Given the description of an element on the screen output the (x, y) to click on. 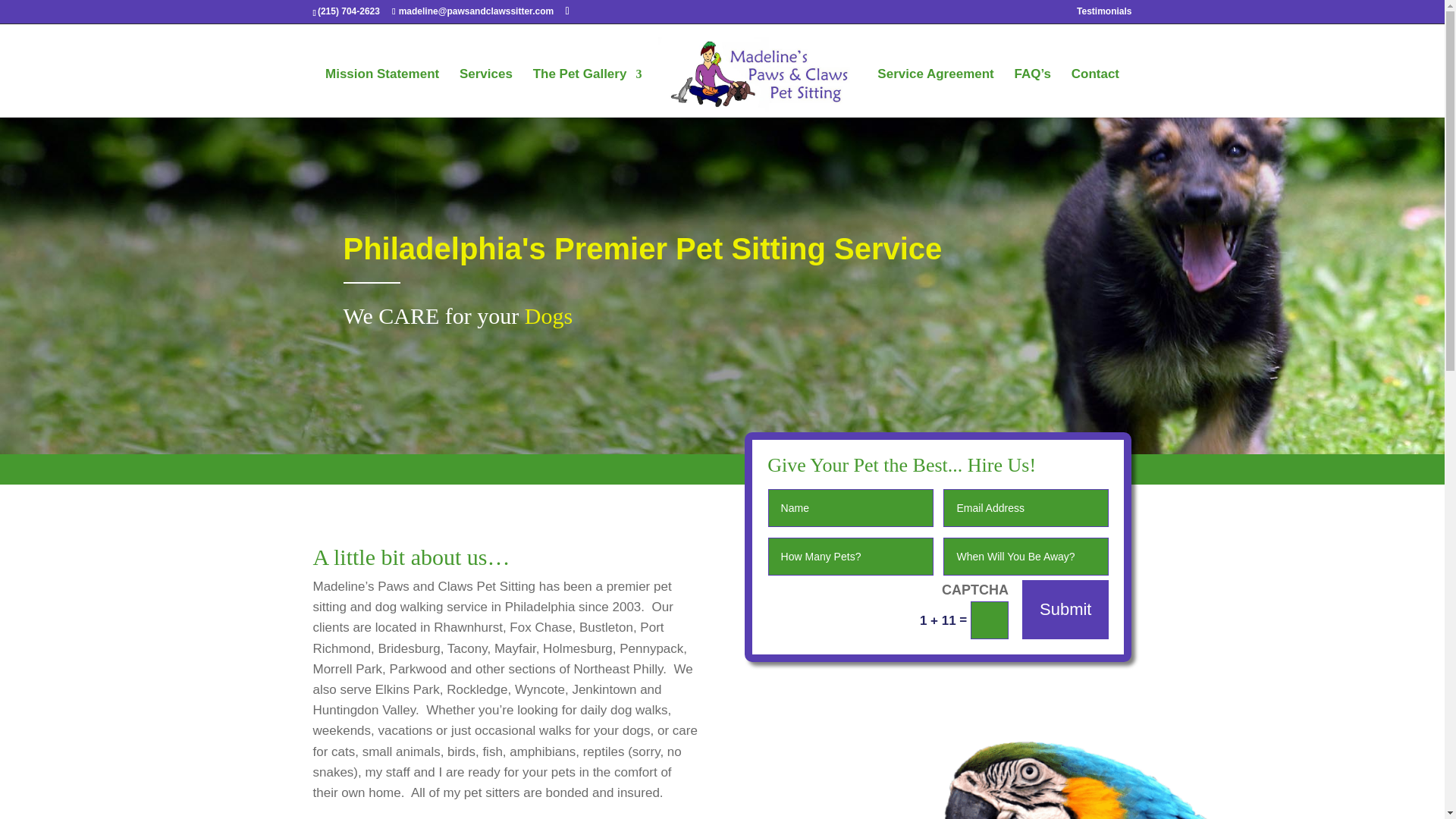
Service Agreement (934, 92)
Testimonials (1104, 14)
Services (486, 92)
Mission Statement (381, 92)
Contact (1095, 92)
The Pet Gallery (587, 92)
Submit (1065, 608)
